Given the description of an element on the screen output the (x, y) to click on. 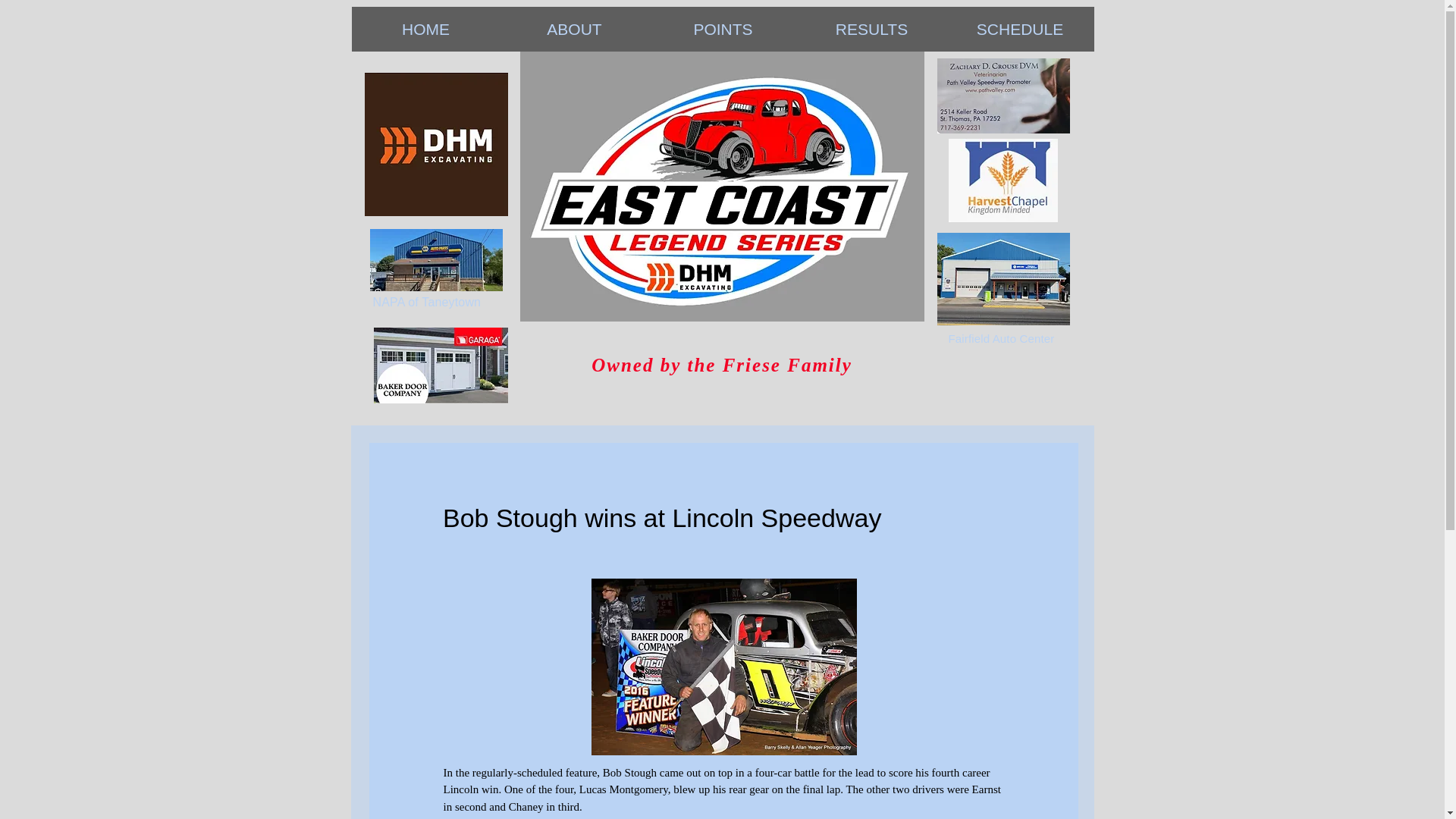
HOME (426, 28)
ABOUT (574, 28)
POINTS (723, 28)
